Given the description of an element on the screen output the (x, y) to click on. 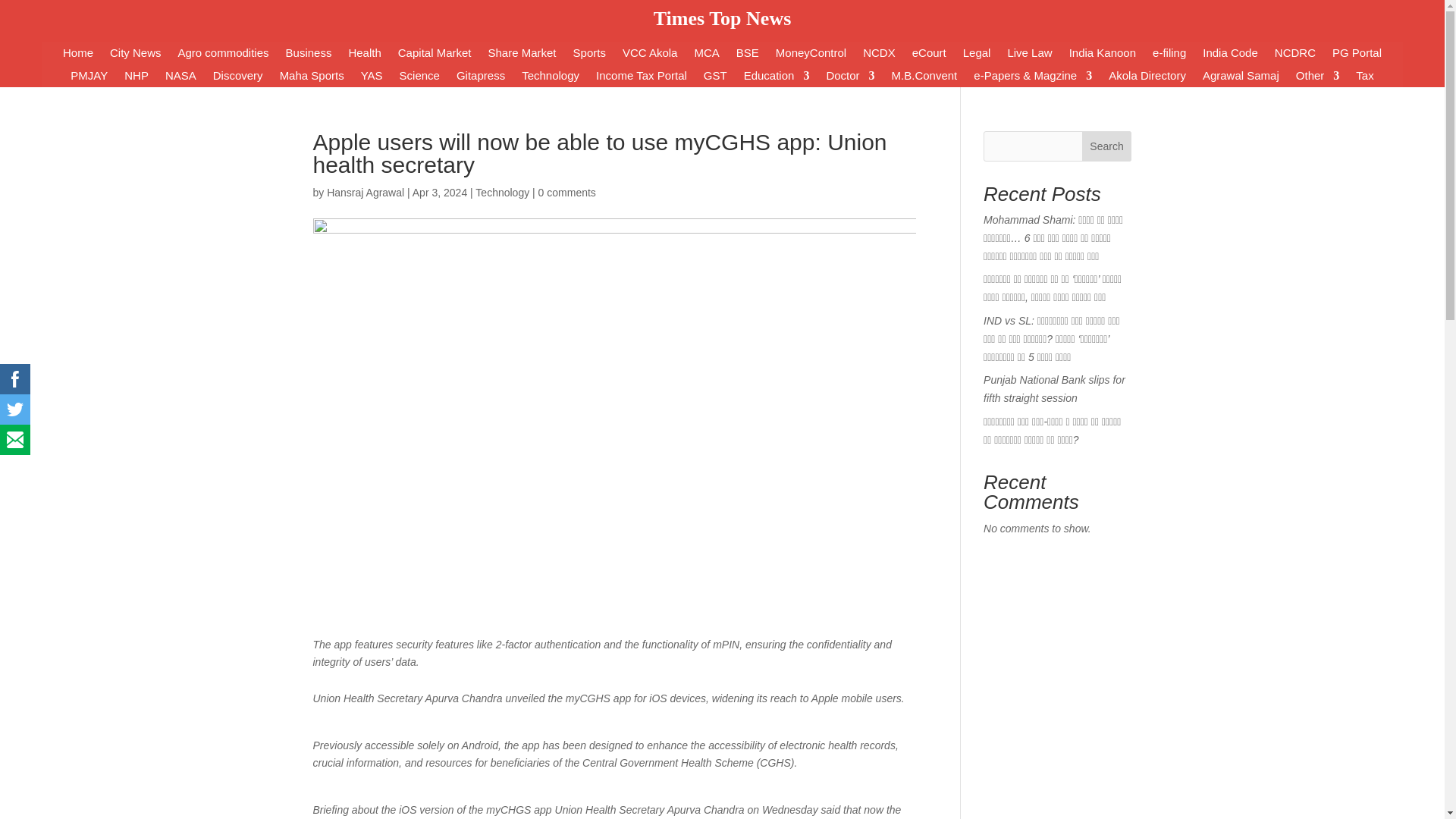
eCourt (929, 55)
City News (135, 55)
Share Market (521, 55)
Maha Sports (311, 78)
Legal (976, 55)
Gitapress (481, 78)
Business (308, 55)
PG Portal (1356, 55)
GST (714, 78)
YAS (371, 78)
MCA (706, 55)
India Code (1229, 55)
Capital Market (434, 55)
Income Tax Portal (641, 78)
NHP (135, 78)
